Given the description of an element on the screen output the (x, y) to click on. 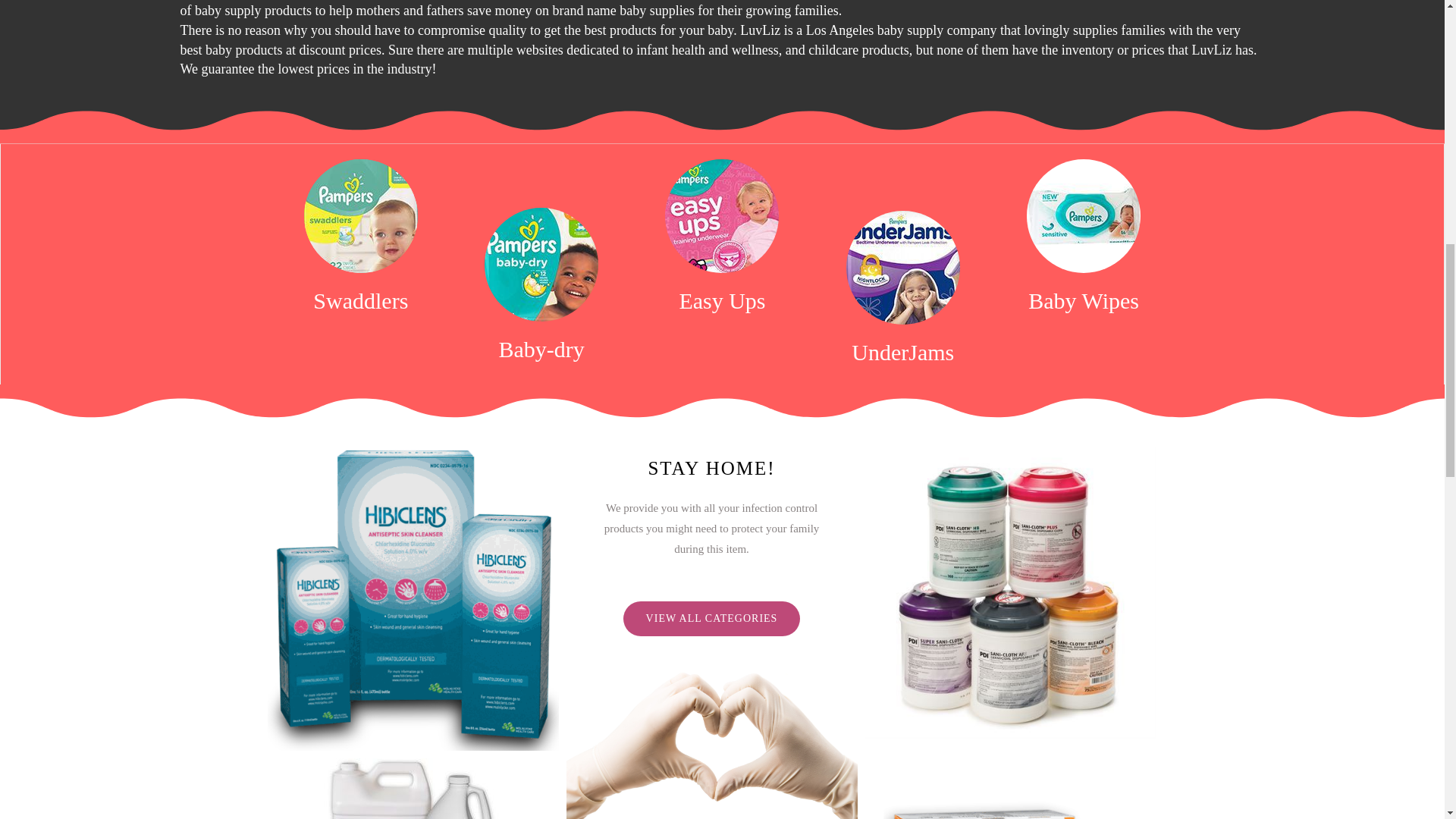
UnderJams (902, 351)
VIEW ALL CATEGORIES (711, 618)
Easy Ups (721, 300)
Baby-dry (541, 348)
Swaddlers (360, 300)
Baby Wipes (1082, 300)
